Given the description of an element on the screen output the (x, y) to click on. 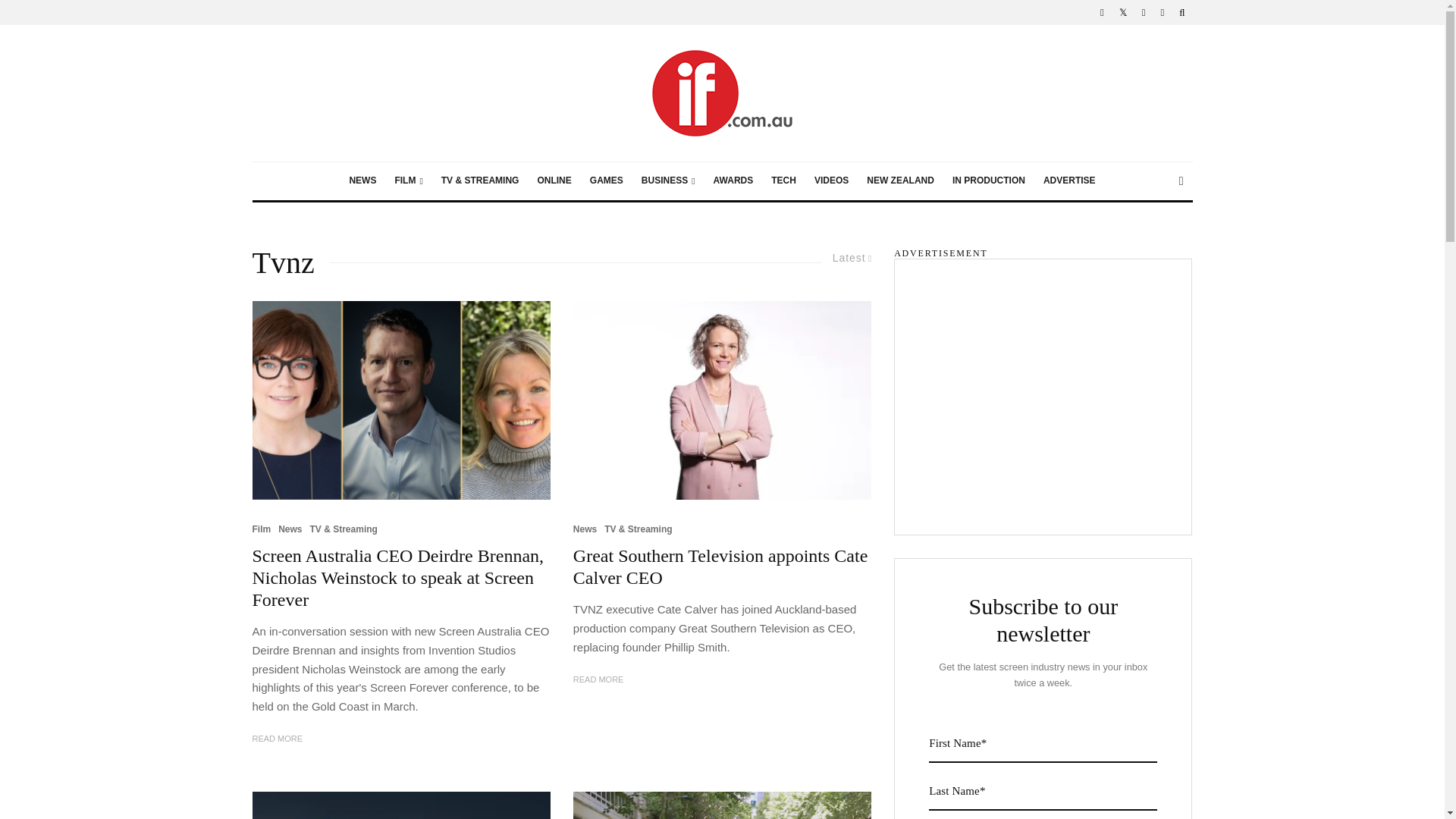
3rd party ad content (1043, 388)
ONLINE (553, 180)
VIDEOS (831, 180)
BUSINESS (667, 180)
READ MORE (276, 738)
AWARDS (733, 180)
ADVERTISE (1069, 180)
Film (260, 529)
NEW ZEALAND (900, 180)
TECH (783, 180)
